Given the description of an element on the screen output the (x, y) to click on. 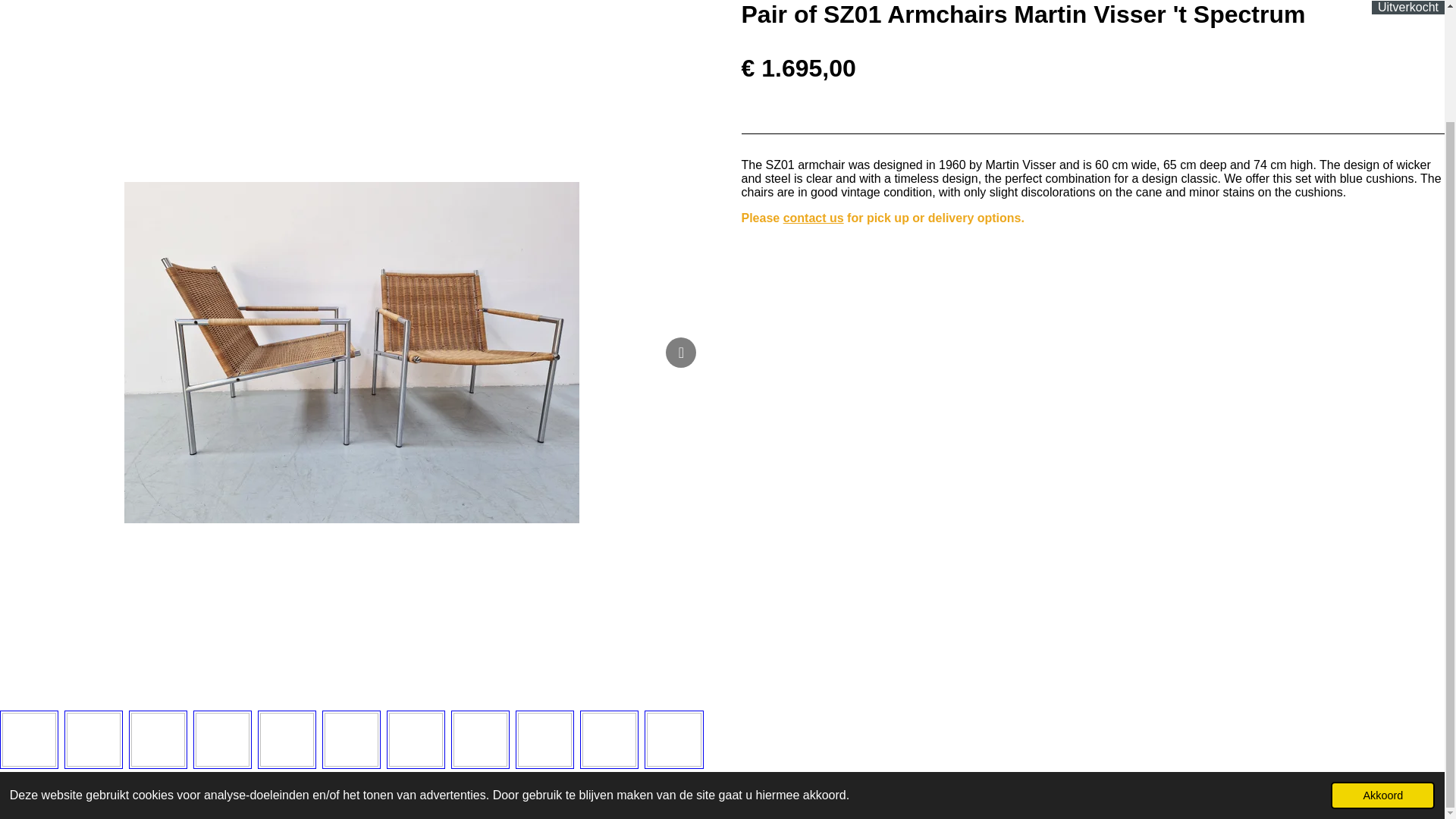
contact us (813, 217)
Akkoord (1382, 694)
